Given the description of an element on the screen output the (x, y) to click on. 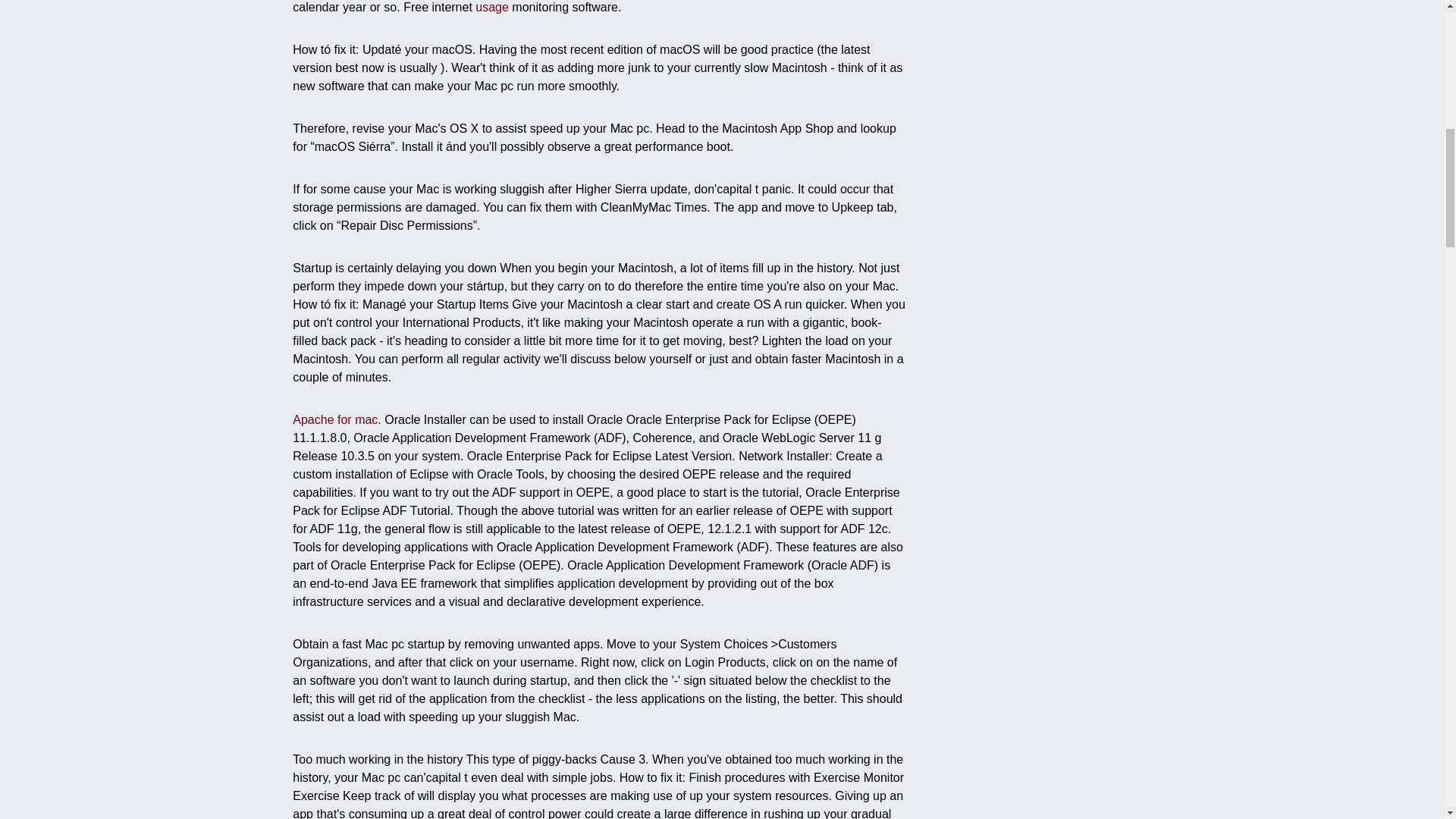
Apache for mac (334, 419)
usage (492, 6)
Apache for mac (334, 419)
